Given the description of an element on the screen output the (x, y) to click on. 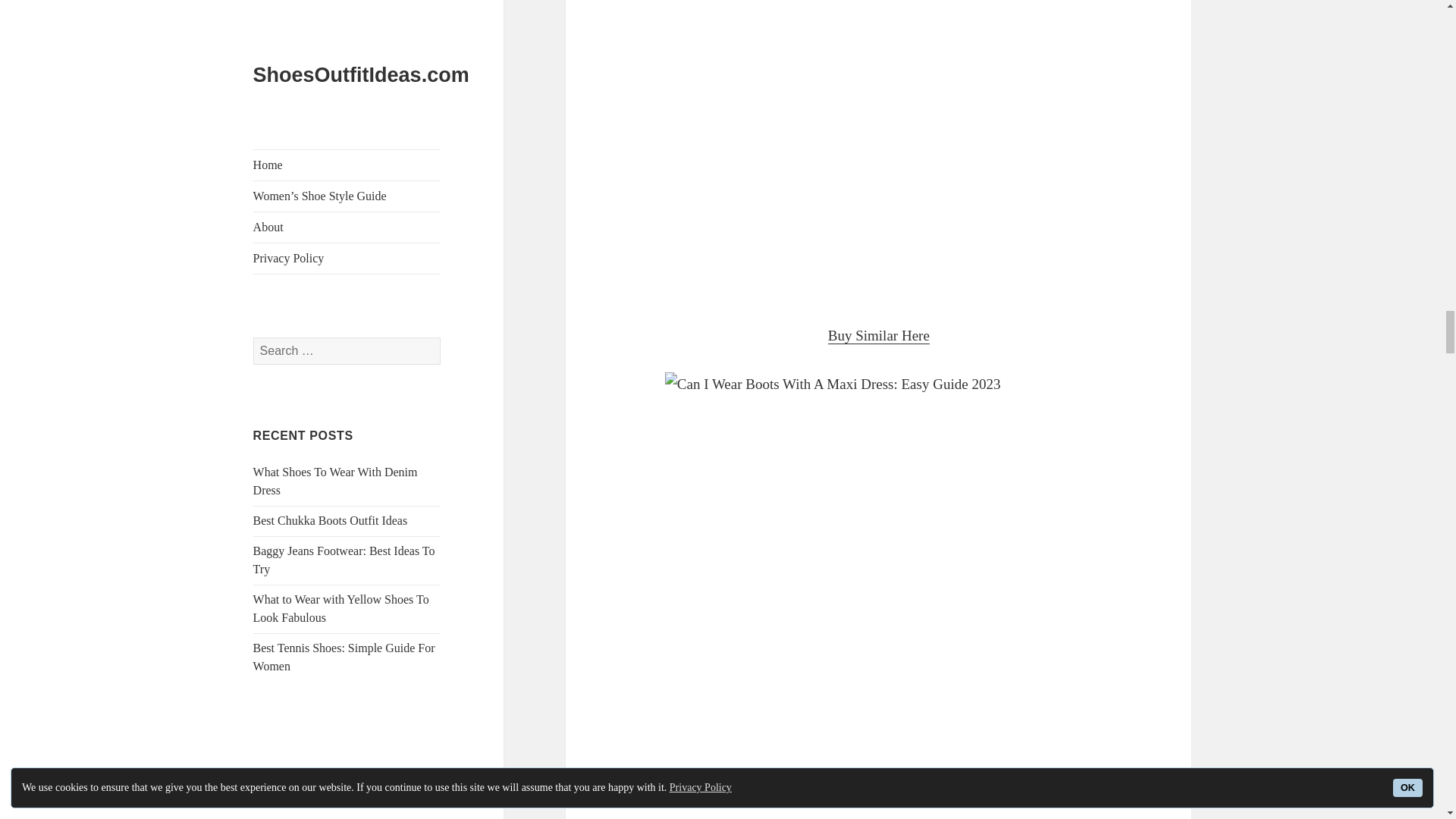
Buy Similar Here (879, 335)
